Given the description of an element on the screen output the (x, y) to click on. 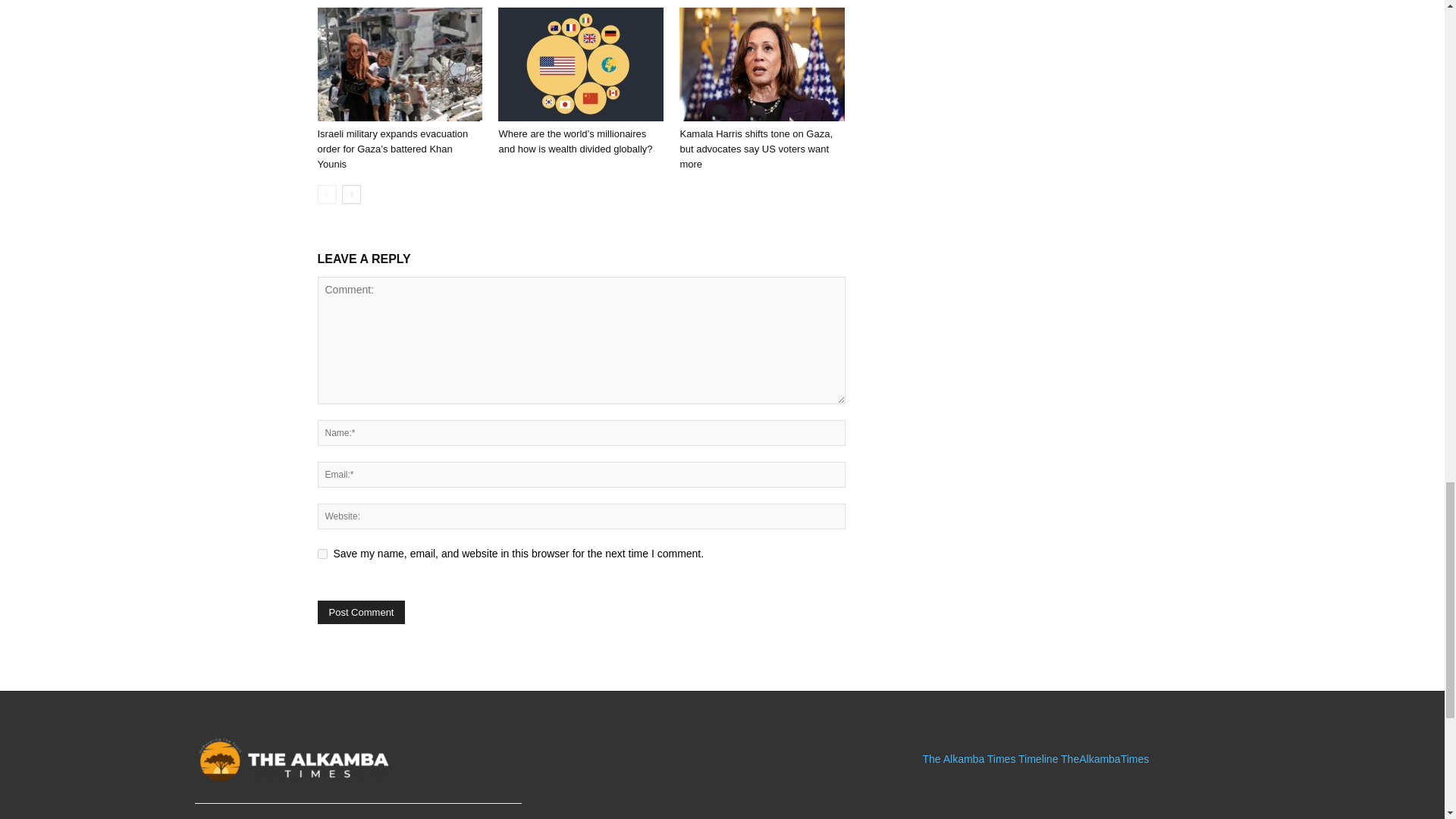
Post Comment (360, 612)
yes (321, 553)
